Given the description of an element on the screen output the (x, y) to click on. 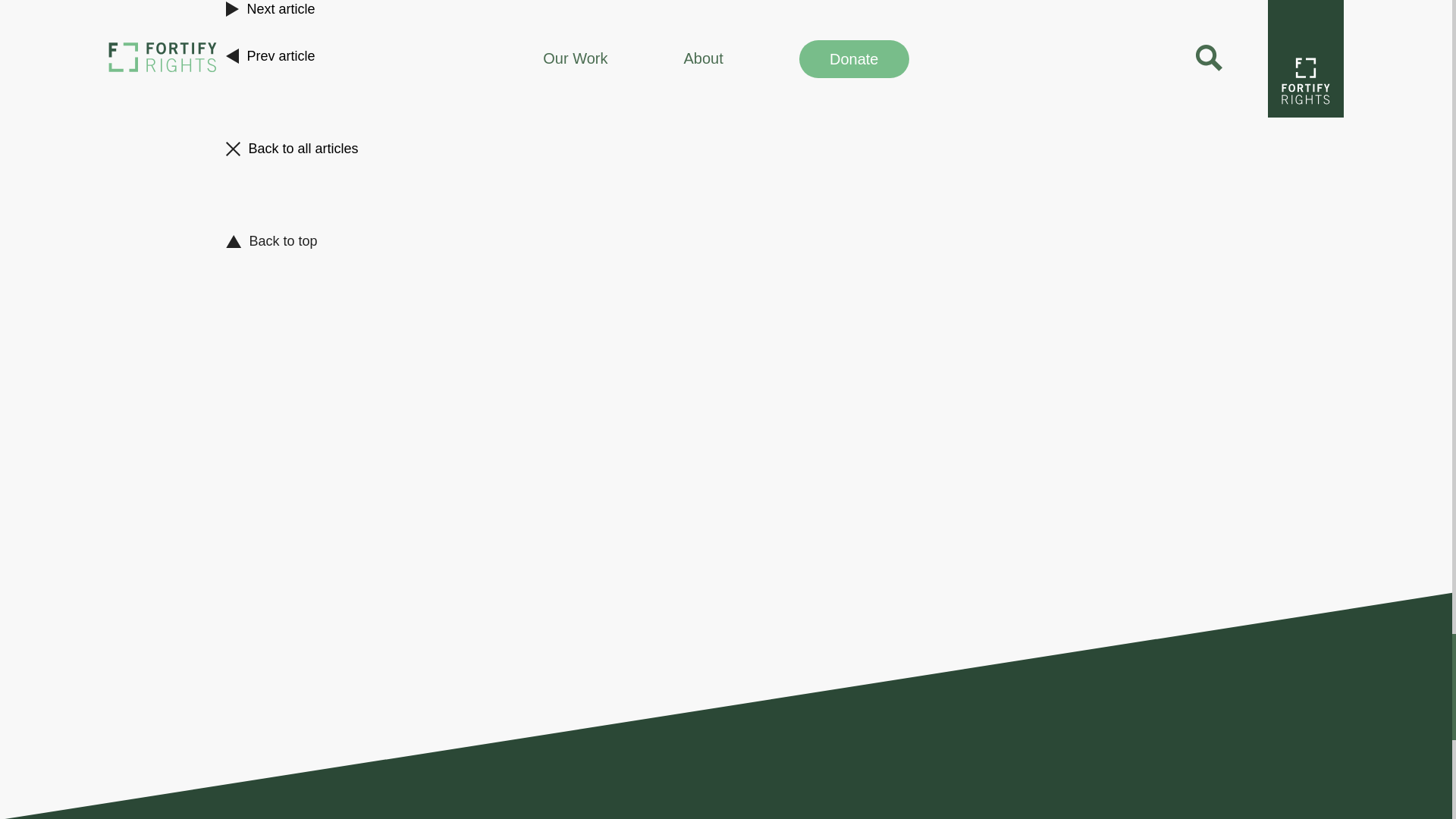
Next article (726, 16)
Prev article (726, 55)
Back to all articles (726, 148)
